Given the description of an element on the screen output the (x, y) to click on. 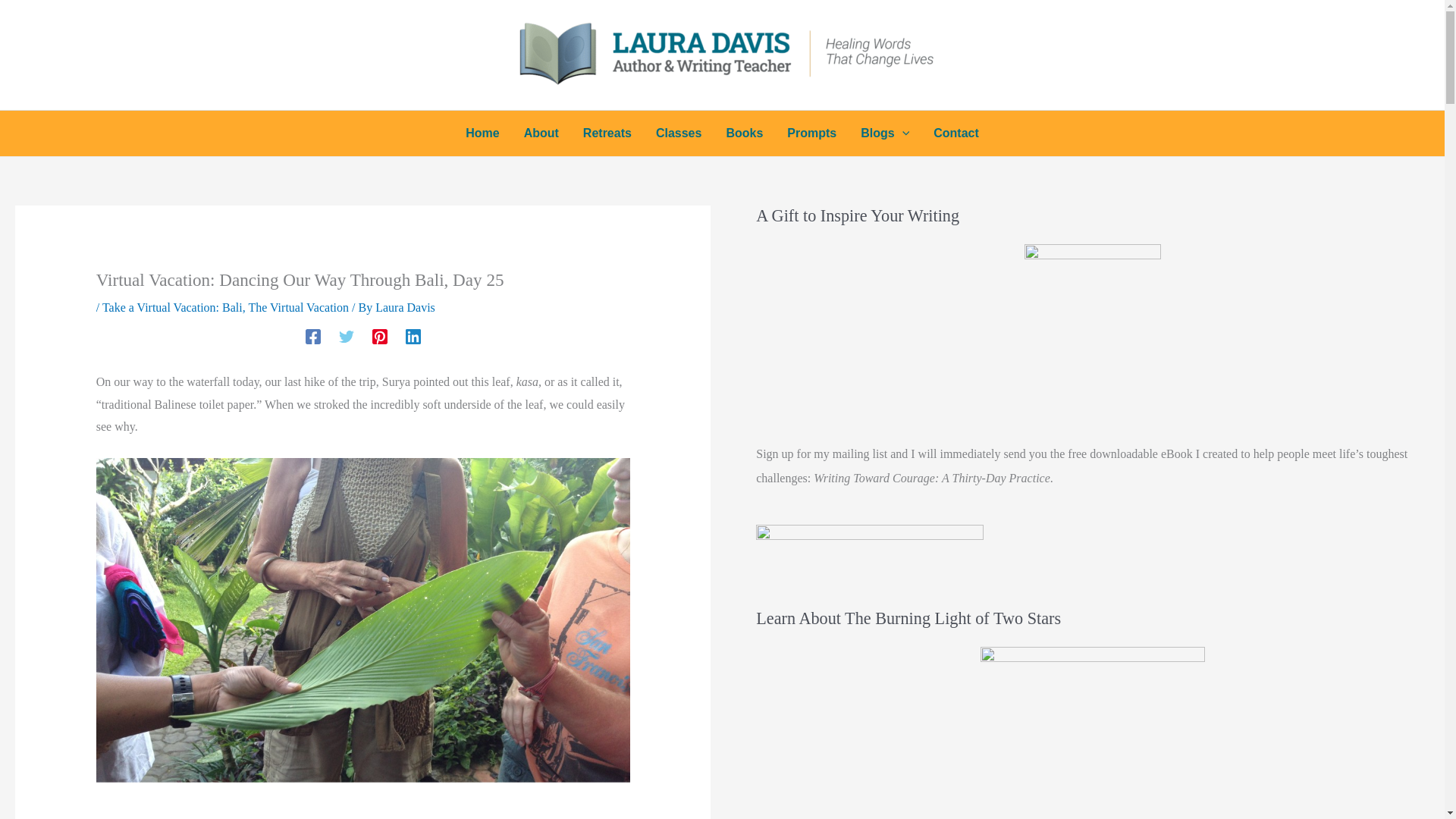
Contact (956, 133)
Classes (678, 133)
Take a Virtual Vacation: Bali (172, 307)
View all posts by Laura Davis (405, 307)
Home (481, 133)
Prompts (811, 133)
Books (743, 133)
The Virtual Vacation (298, 307)
Laura Davis (405, 307)
